Given the description of an element on the screen output the (x, y) to click on. 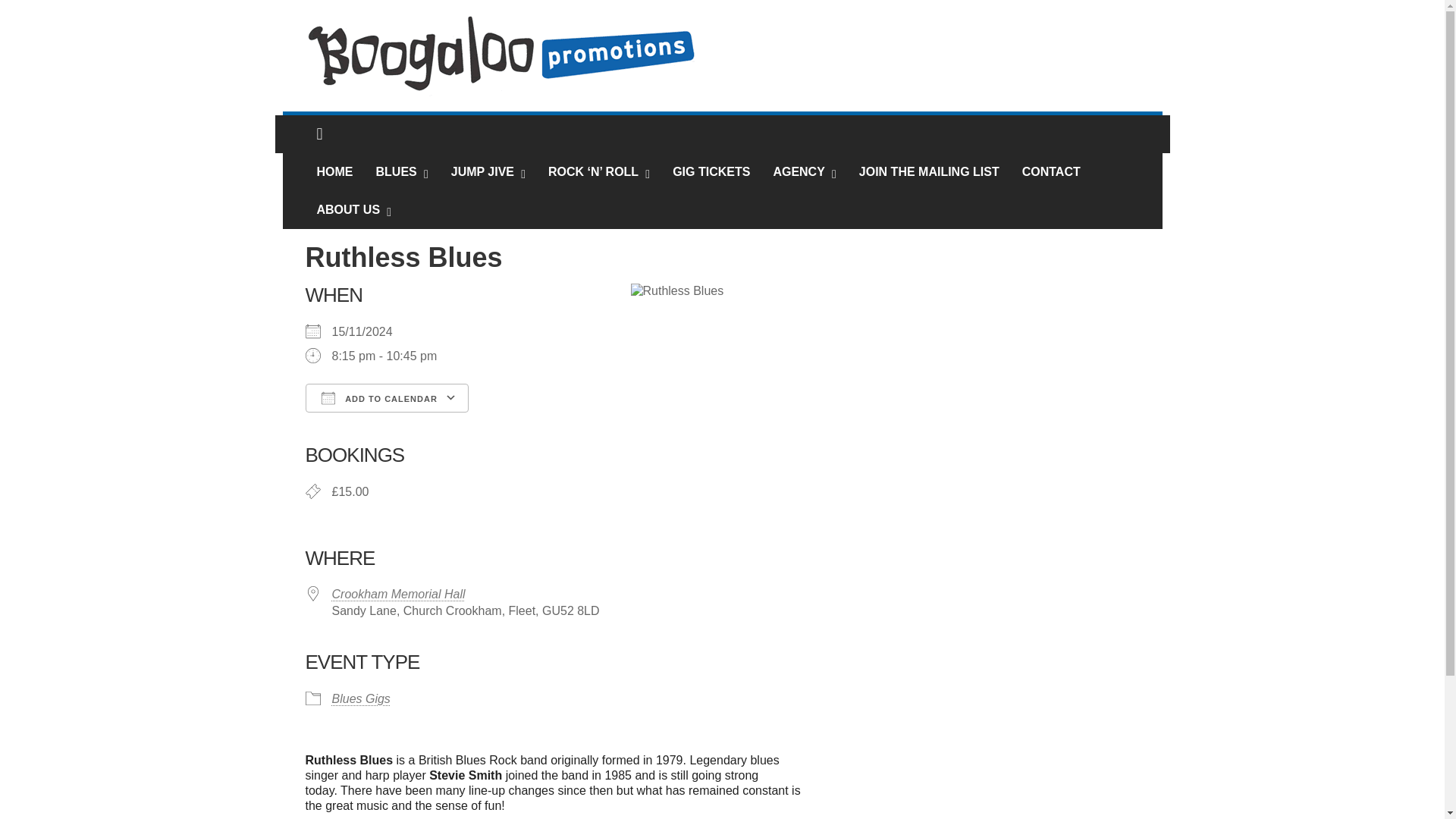
JOIN THE MAILING LIST (928, 171)
CONTACT (1051, 171)
BLUES (395, 171)
ABOUT US (348, 209)
GIG TICKETS (710, 171)
HOME (335, 171)
ADD TO CALENDAR (385, 398)
Blues Gigs (360, 698)
AGENCY (798, 171)
Crookham Memorial Hall (398, 594)
